Given the description of an element on the screen output the (x, y) to click on. 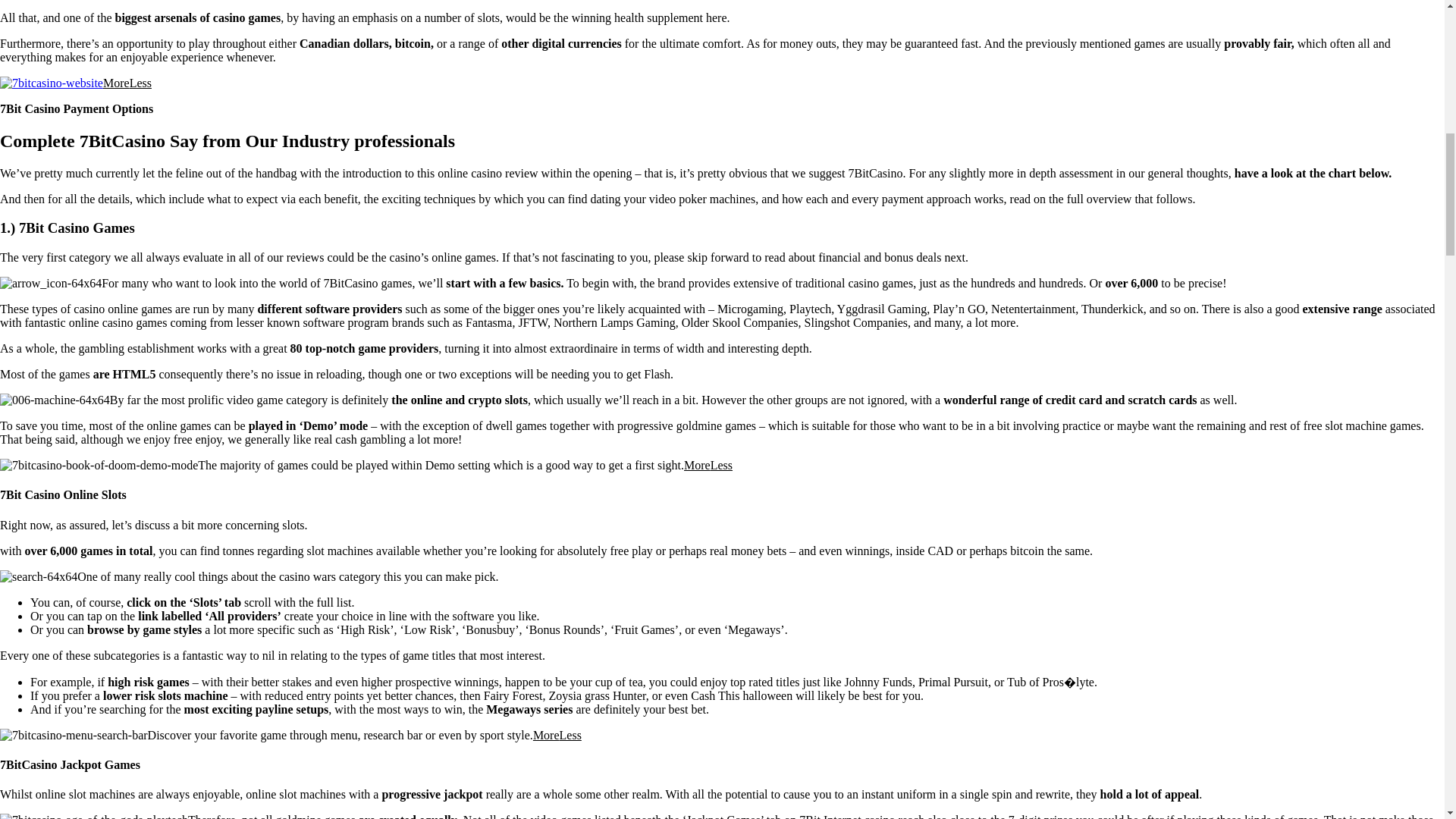
MoreLess (127, 82)
